Given the description of an element on the screen output the (x, y) to click on. 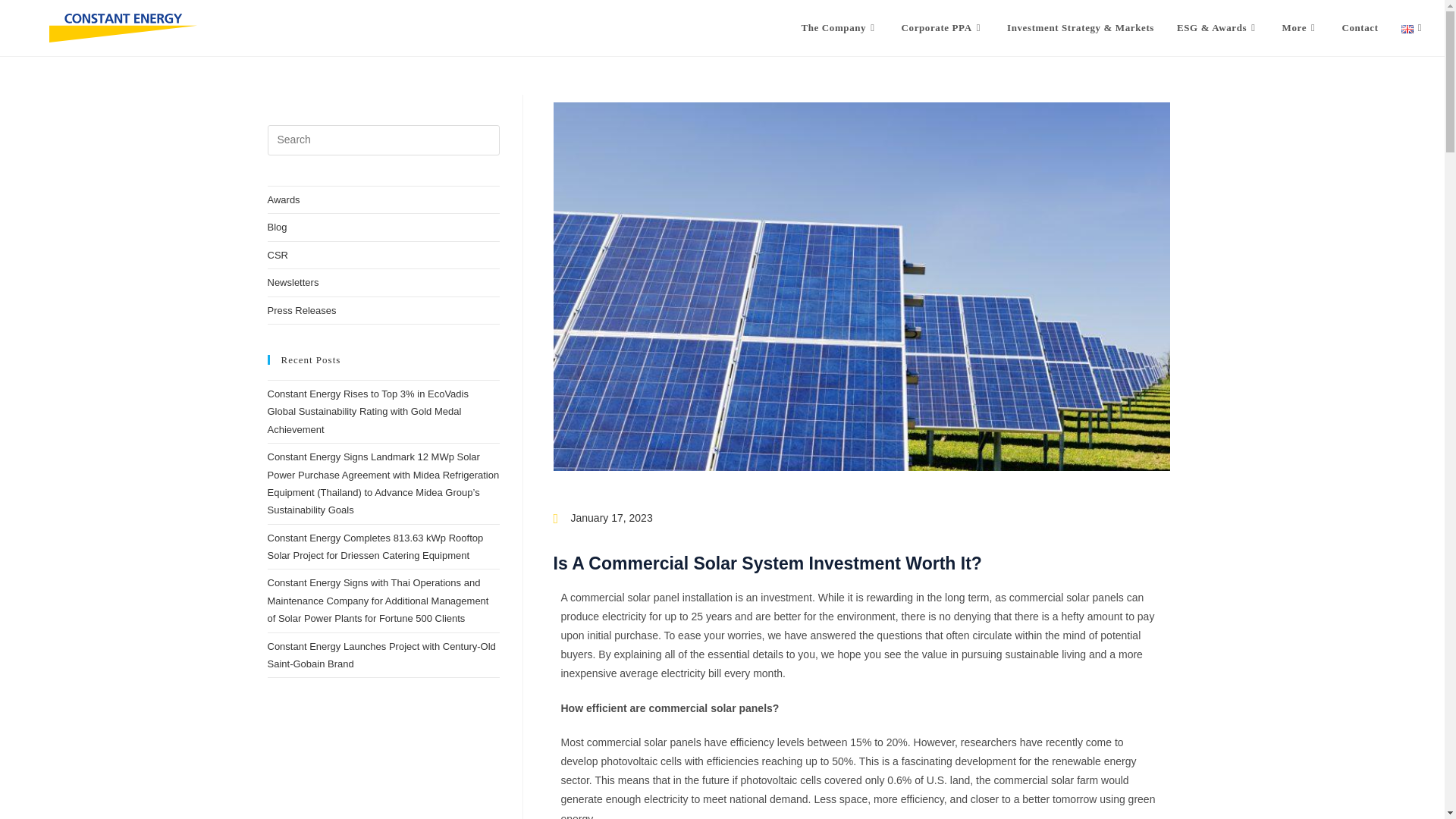
The Company (839, 28)
More (1300, 28)
Contact (1359, 28)
Corporate PPA (942, 28)
